Given the description of an element on the screen output the (x, y) to click on. 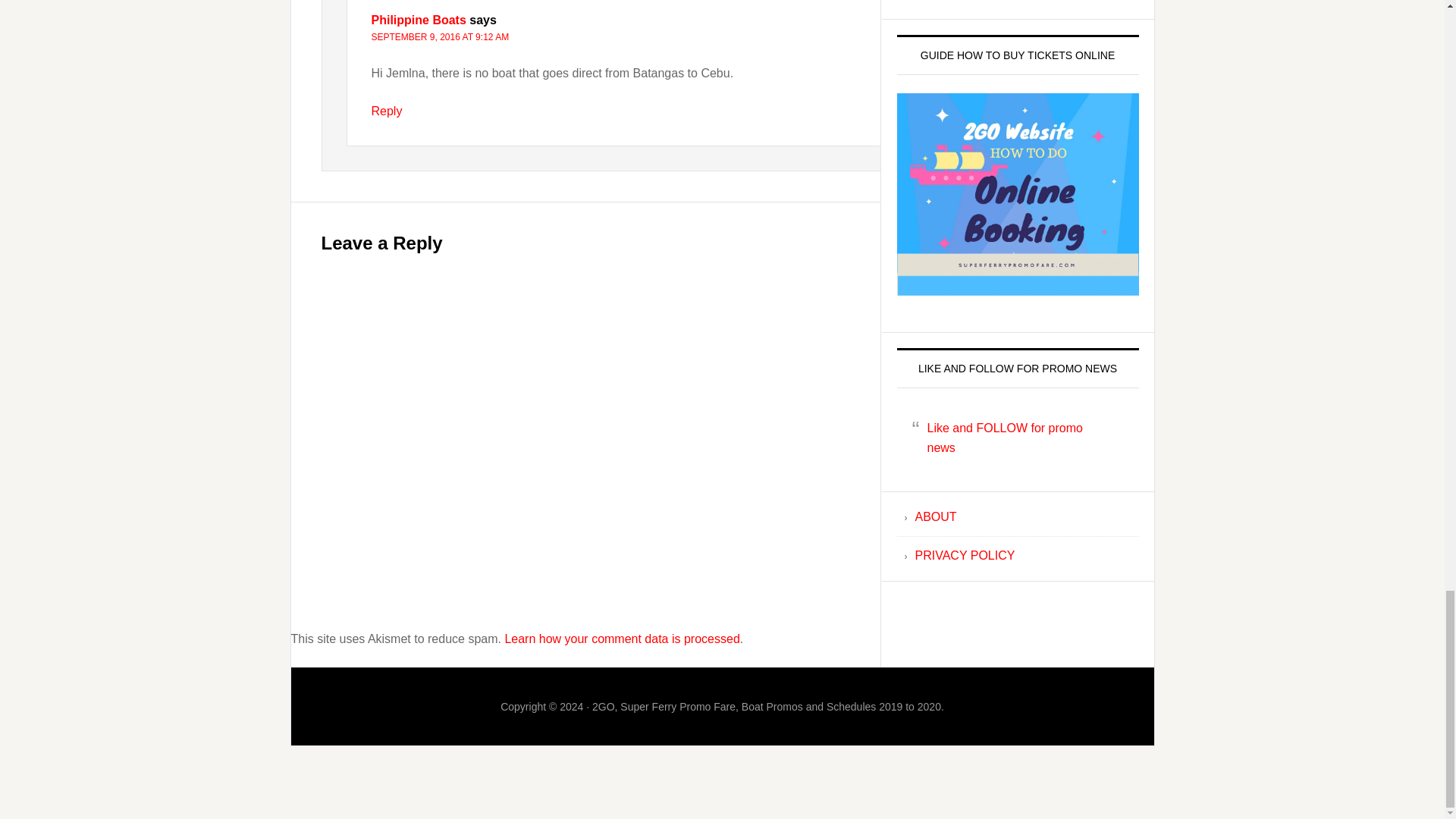
Philippine Boats (418, 19)
Reply (387, 110)
Learn how your comment data is processed (621, 638)
SEPTEMBER 9, 2016 AT 9:12 AM (440, 36)
